Given the description of an element on the screen output the (x, y) to click on. 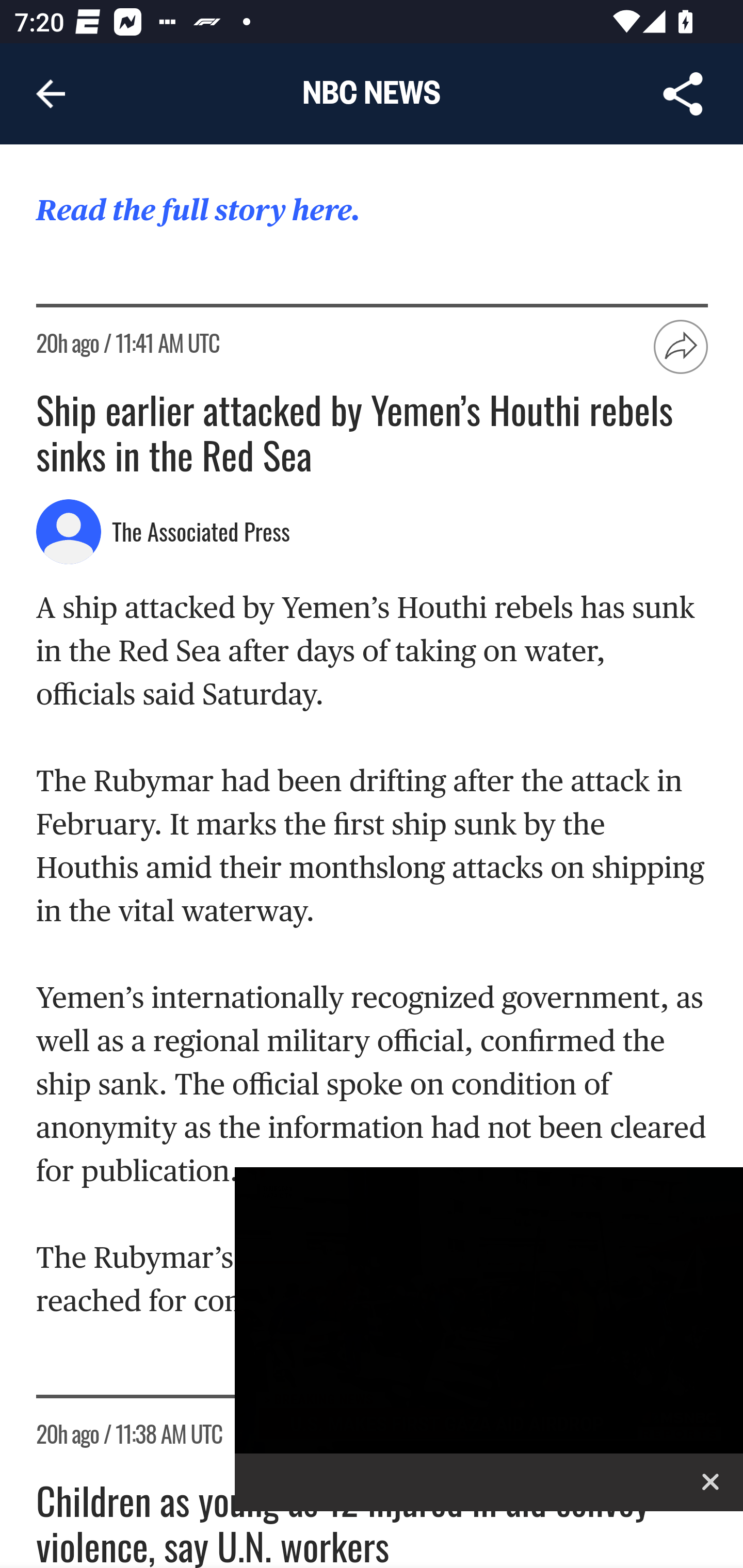
Navigate up (50, 93)
Share Article, button (683, 94)
Read the full story here. (198, 210)
open social share icon list (681, 347)
